Given the description of an element on the screen output the (x, y) to click on. 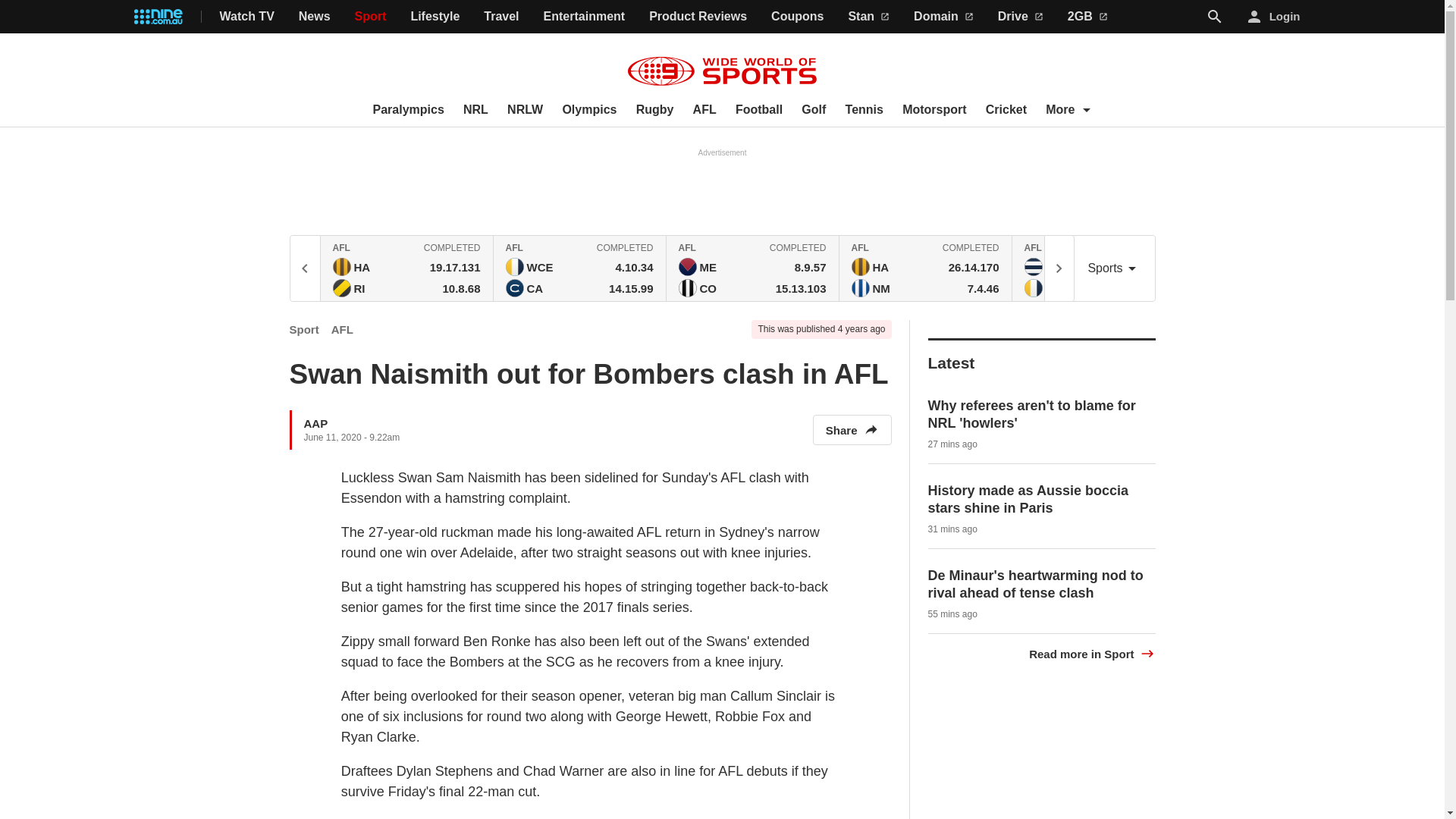
Watch TV (247, 16)
AFL (704, 109)
Travel (500, 16)
Paralympics (407, 109)
Coupons (797, 16)
Login (1273, 16)
Product Reviews (697, 16)
Stan (868, 16)
Golf (812, 109)
Rugby (654, 109)
